Given the description of an element on the screen output the (x, y) to click on. 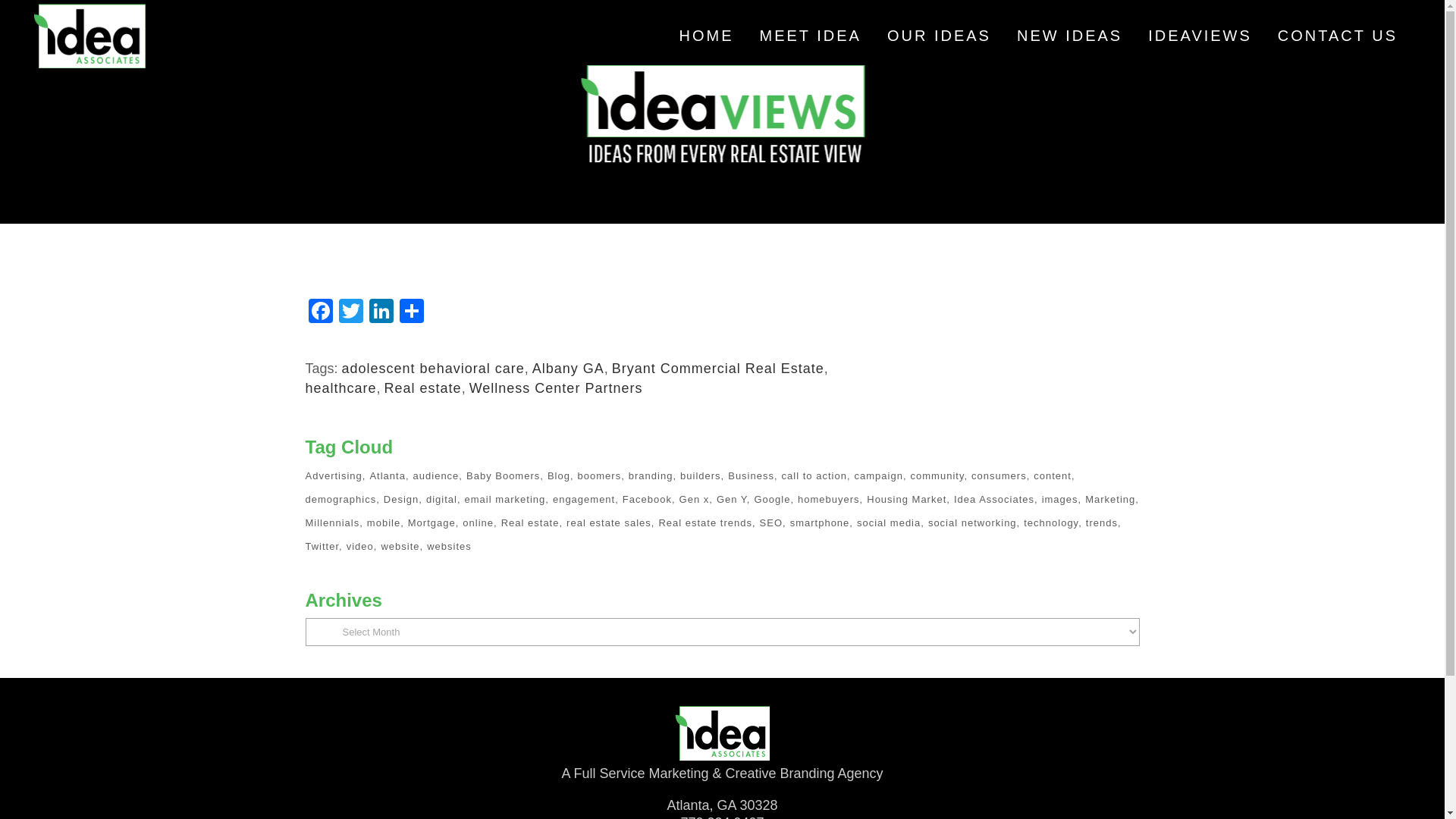
NEW IDEAS (1069, 36)
healthcare (339, 387)
HOME (705, 36)
call to action (815, 476)
Baby Boomers (504, 476)
CONTACT US (1337, 36)
builders (701, 476)
Wellness Center Partners (555, 387)
MEET IDEA (809, 36)
Facebook (319, 312)
